Given the description of an element on the screen output the (x, y) to click on. 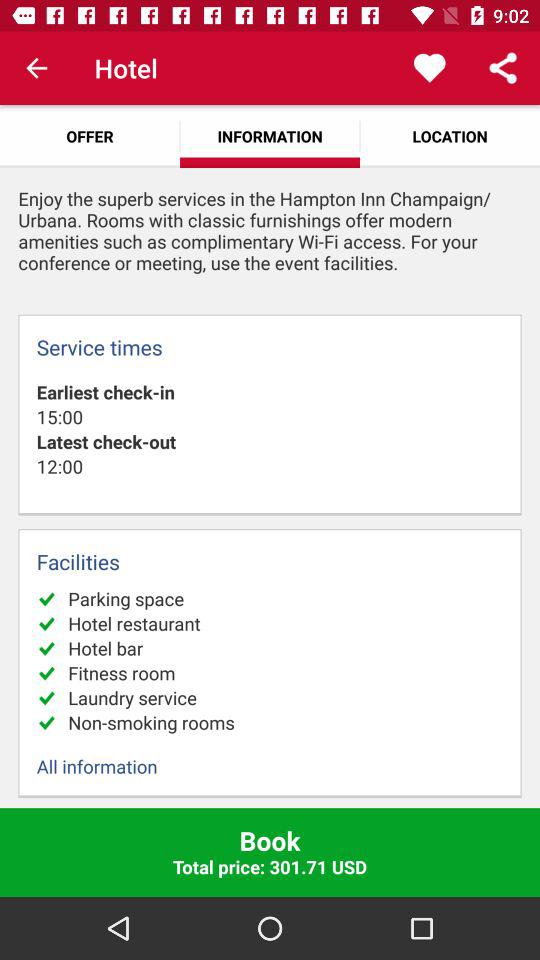
open the icon above the book (269, 766)
